Given the description of an element on the screen output the (x, y) to click on. 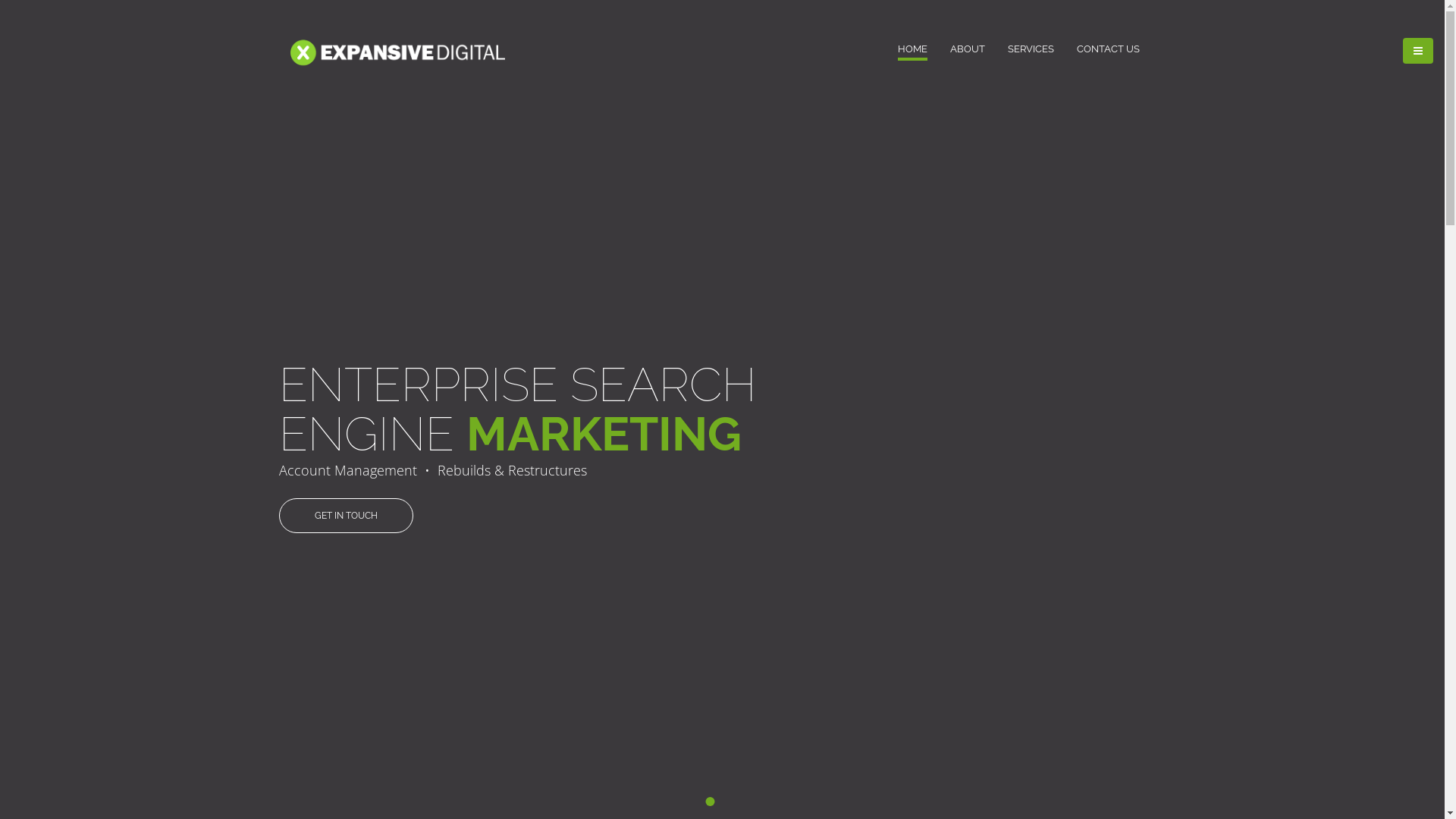
ABOUT Element type: text (966, 48)
HOME Element type: text (912, 48)
CONTACT US Element type: text (1107, 48)
SERVICES Element type: text (1030, 48)
GET IN TOUCH Element type: text (346, 515)
